Given the description of an element on the screen output the (x, y) to click on. 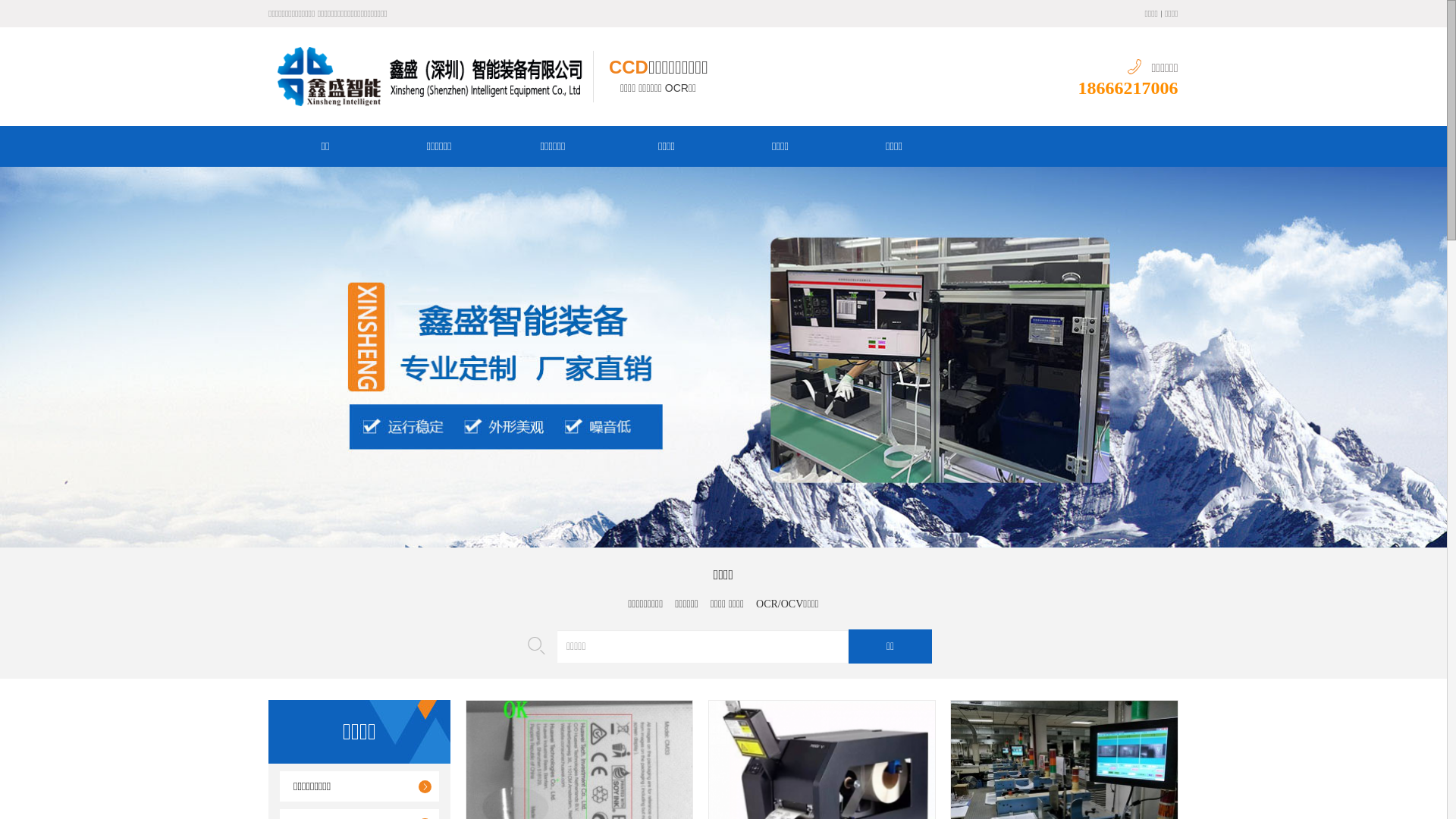
18666217006 Element type: text (1128, 87)
